Given the description of an element on the screen output the (x, y) to click on. 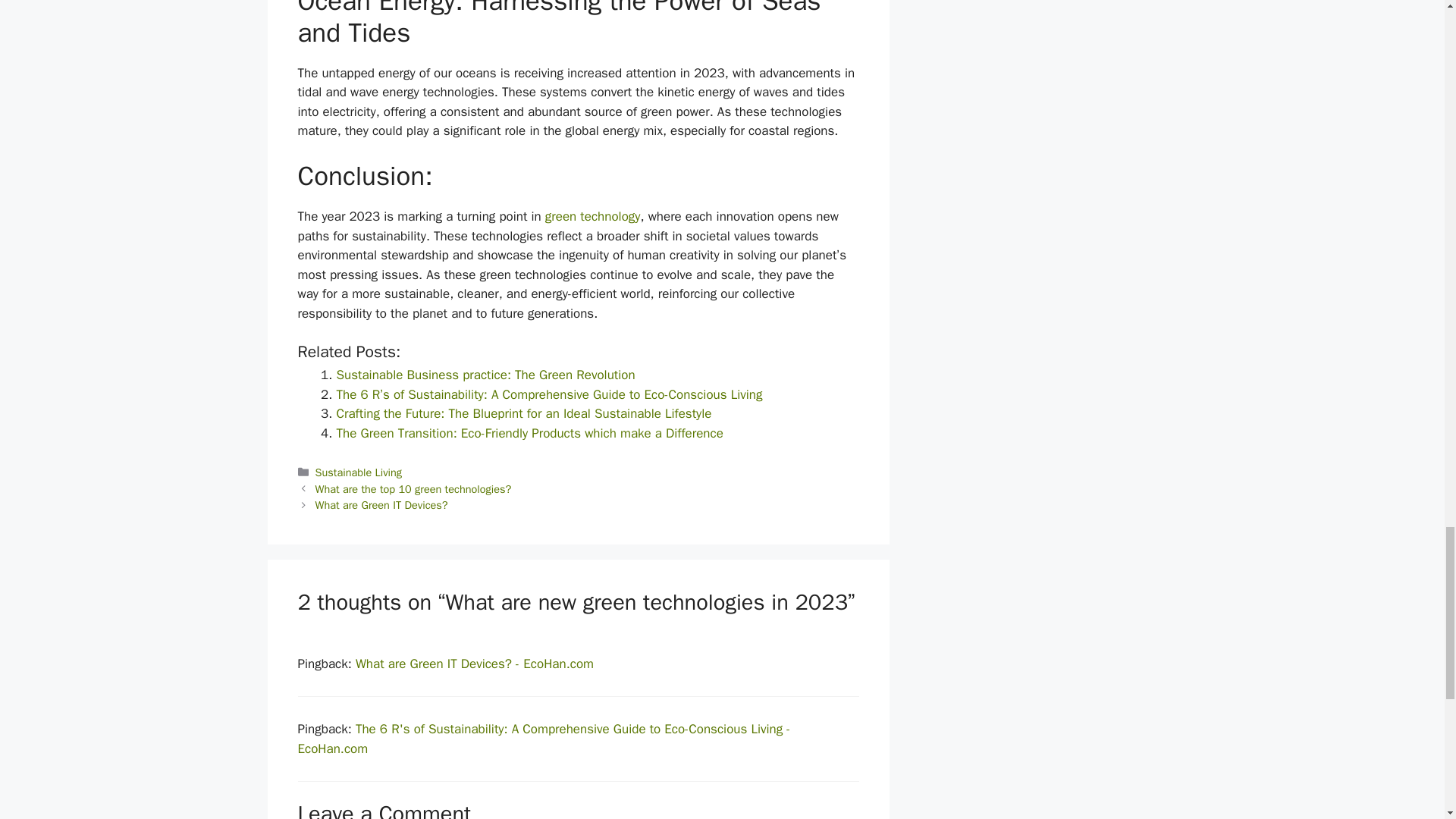
Sustainable Business practice: The Green Revolution (485, 374)
green technology (592, 216)
What are the top 10 green technologies? (413, 489)
Sustainable Business practice: The Green Revolution (485, 374)
What are Green IT Devices? (381, 504)
